Given the description of an element on the screen output the (x, y) to click on. 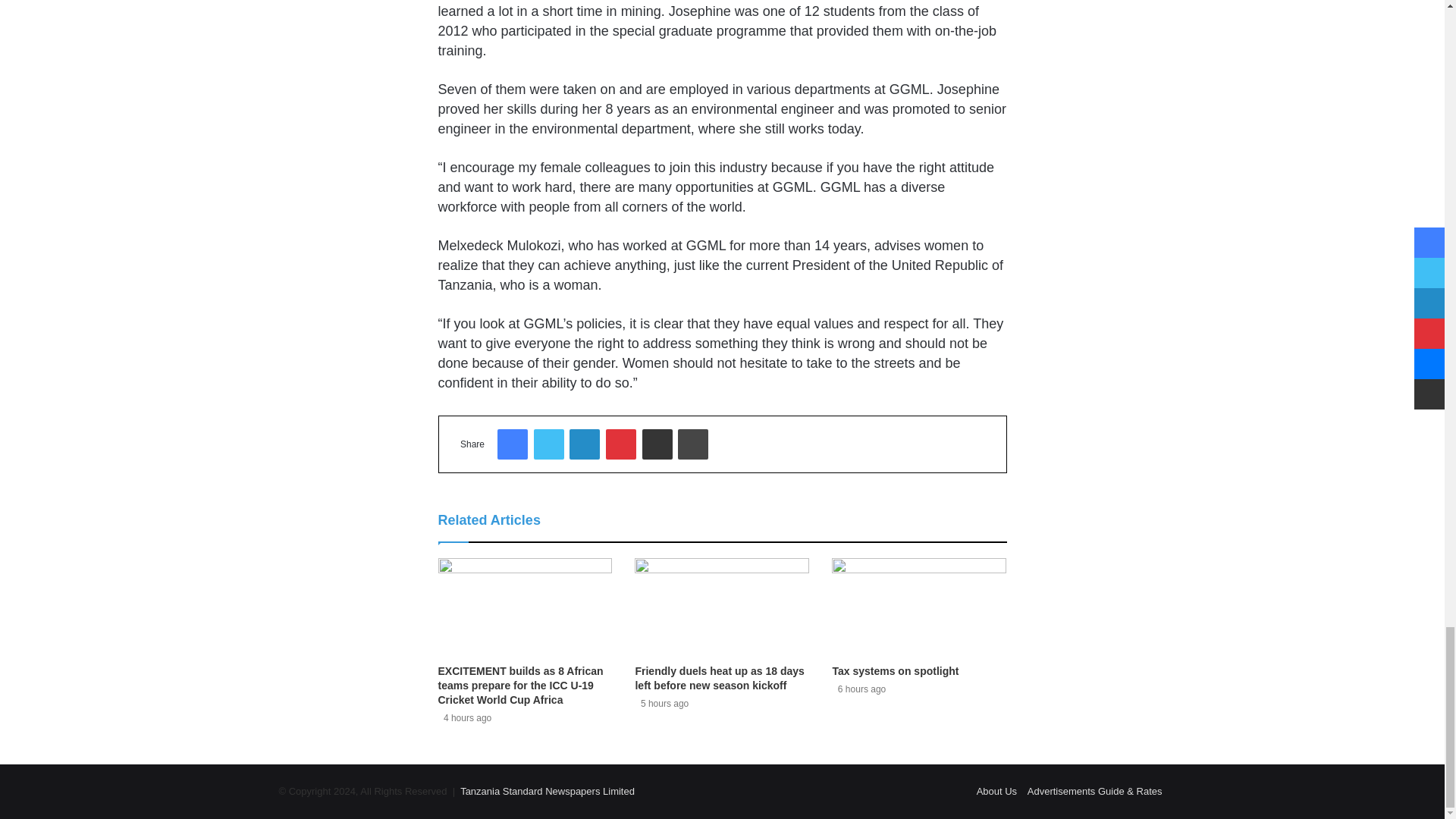
Facebook (512, 444)
Twitter (549, 444)
Twitter (549, 444)
Facebook (512, 444)
Share via Email (656, 444)
Pinterest (620, 444)
LinkedIn (584, 444)
Share via Email (656, 444)
Print (692, 444)
LinkedIn (584, 444)
Pinterest (620, 444)
